Given the description of an element on the screen output the (x, y) to click on. 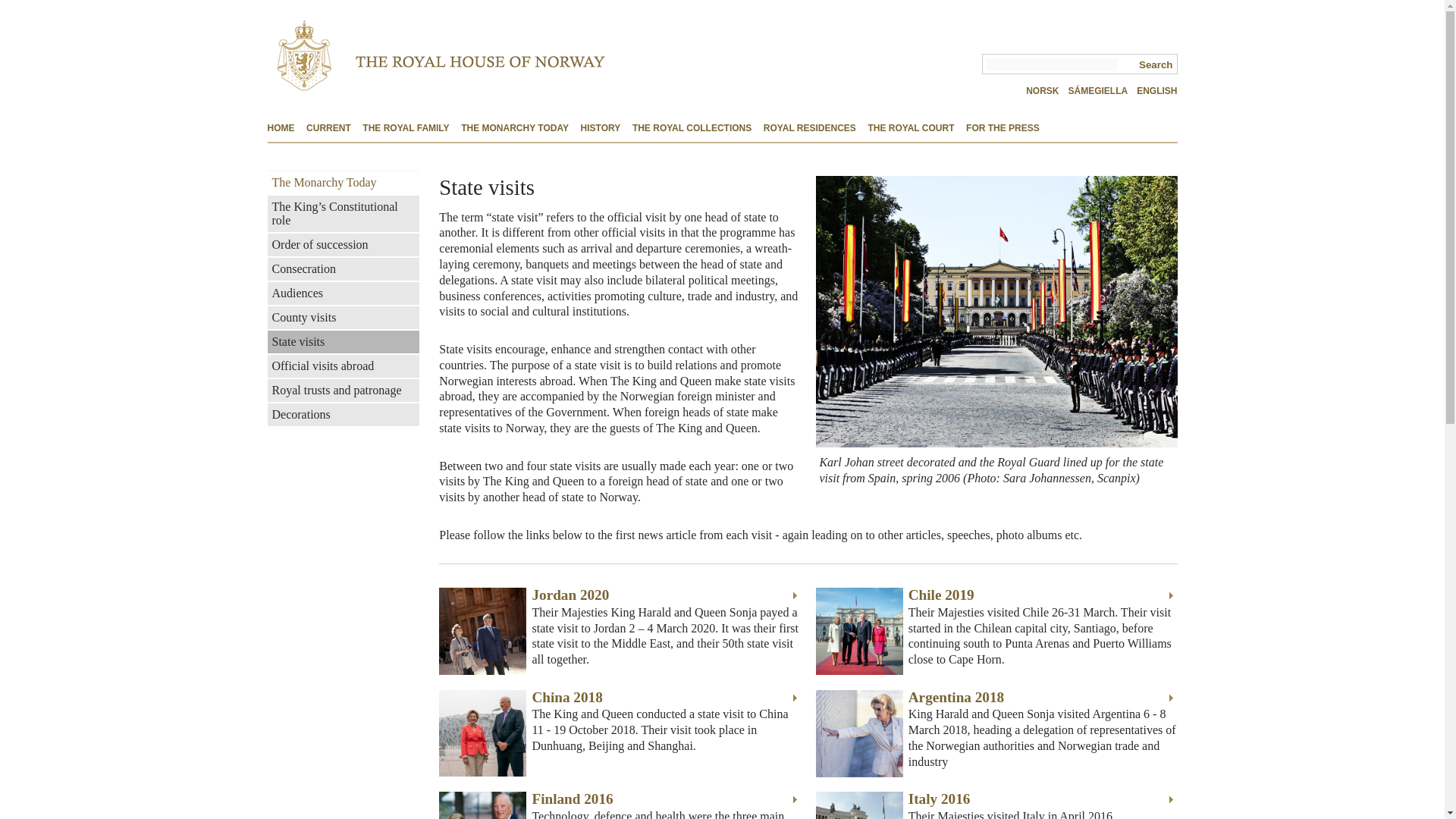
FOR THE PRESS (1002, 128)
THE ROYAL COURT (910, 128)
ENGLISH (1156, 91)
NORSK (1042, 91)
Consecration (342, 268)
THE ROYAL FAMILY (405, 128)
Royal trusts and patronage (342, 390)
Audiences (342, 292)
State visits (342, 341)
Search (1154, 64)
HISTORY (600, 128)
CURRENT (327, 128)
Decorations (342, 414)
